Given the description of an element on the screen output the (x, y) to click on. 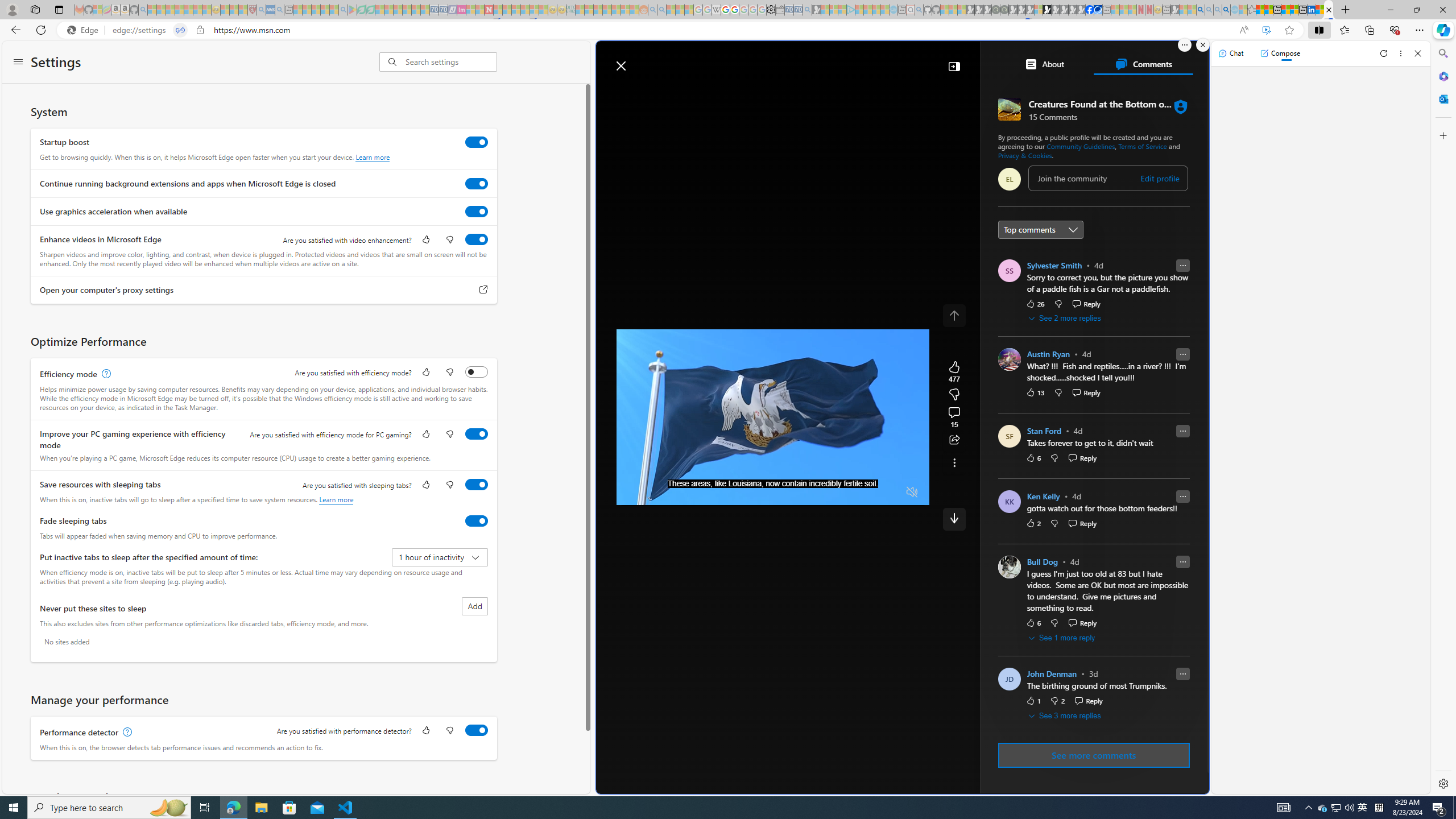
Local - MSN - Sleeping (242, 9)
Compose (1279, 52)
Personalize (1129, 92)
2 Like (1032, 523)
Use graphics acceleration when available (476, 211)
Quality Settings (845, 492)
Like (425, 731)
github - Search - Sleeping (919, 9)
